Given the description of an element on the screen output the (x, y) to click on. 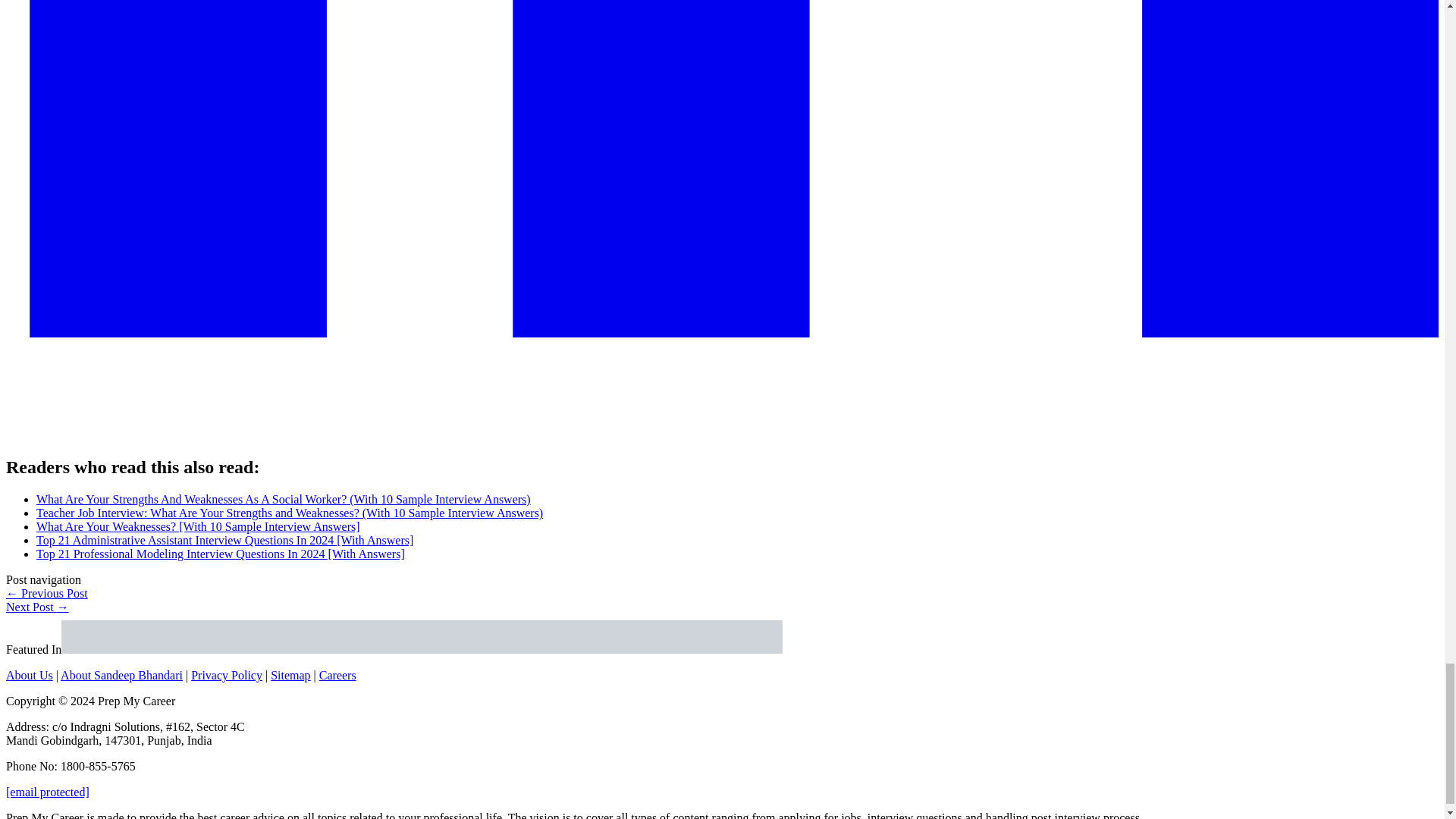
Privacy Policy (226, 675)
About Sandeep Bhandari (122, 675)
About Us (28, 675)
Careers (337, 675)
Sitemap (290, 675)
